Given the description of an element on the screen output the (x, y) to click on. 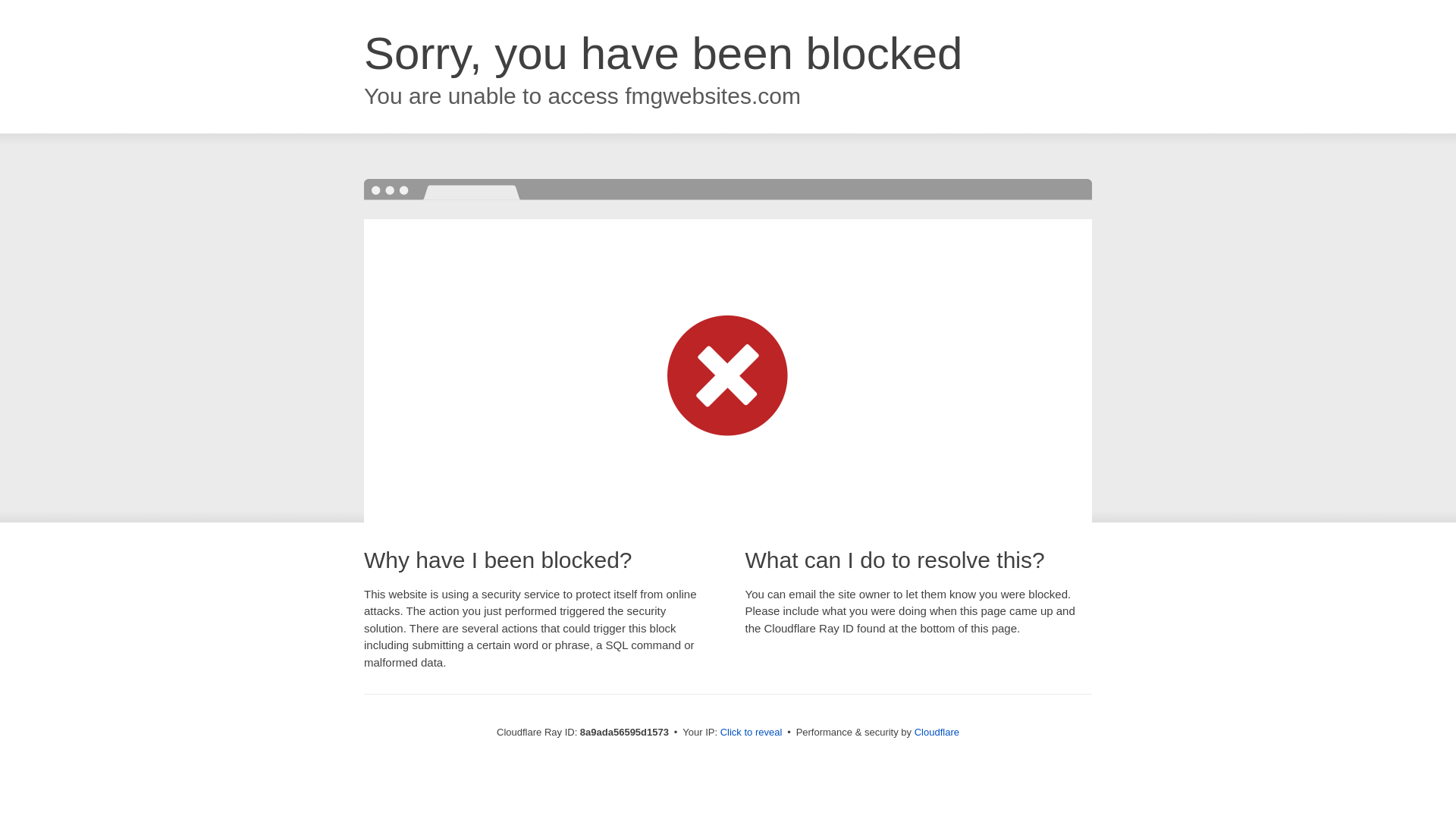
Cloudflare (936, 731)
Click to reveal (751, 732)
